Given the description of an element on the screen output the (x, y) to click on. 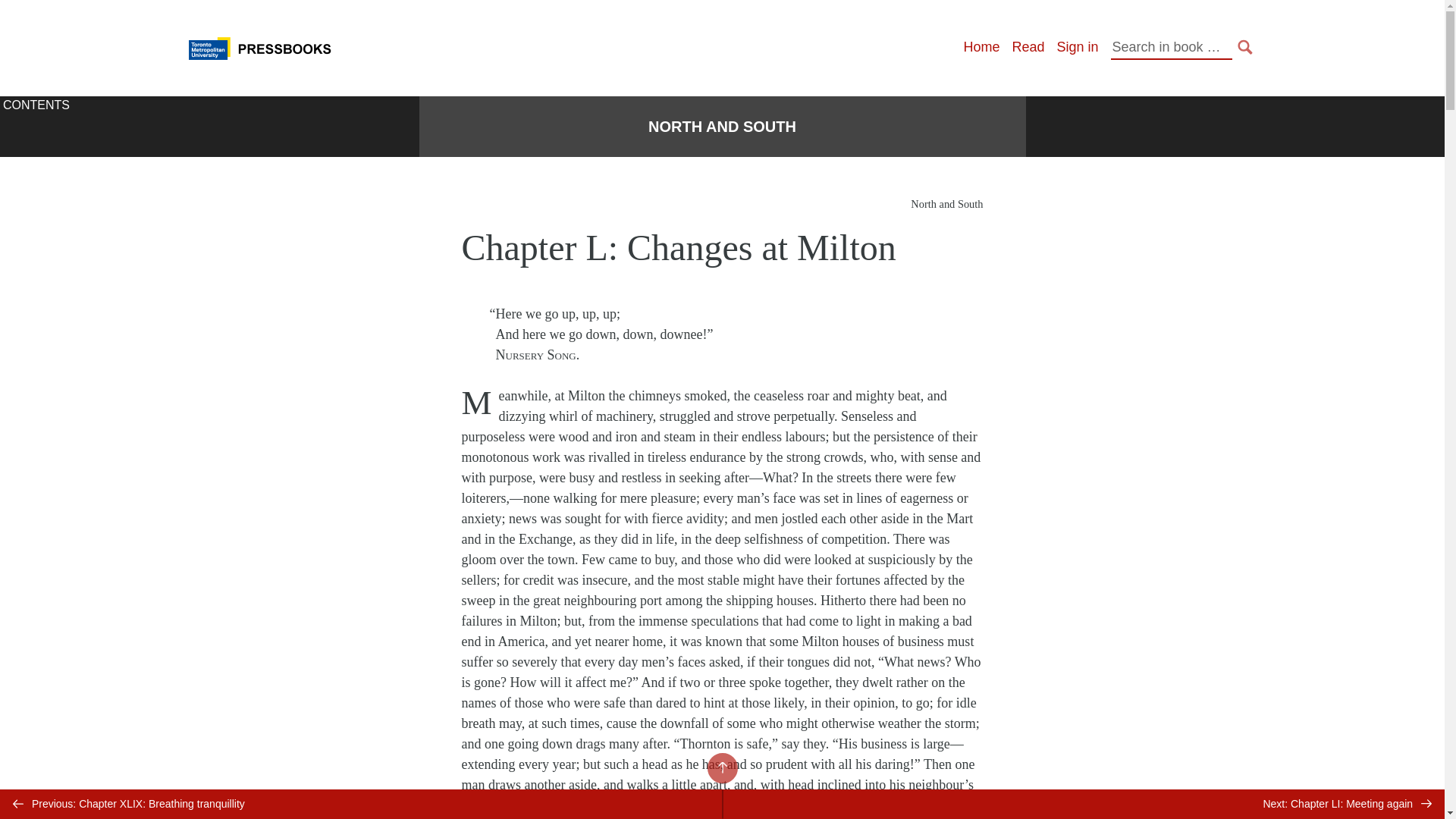
Previous: Chapter XLIX: Breathing tranquillity (361, 804)
Home (980, 46)
Sign in (1077, 46)
Previous: Chapter XLIX: Breathing tranquillity (361, 804)
NORTH AND SOUTH (721, 126)
BACK TO TOP (721, 767)
Read (1027, 46)
